Given the description of an element on the screen output the (x, y) to click on. 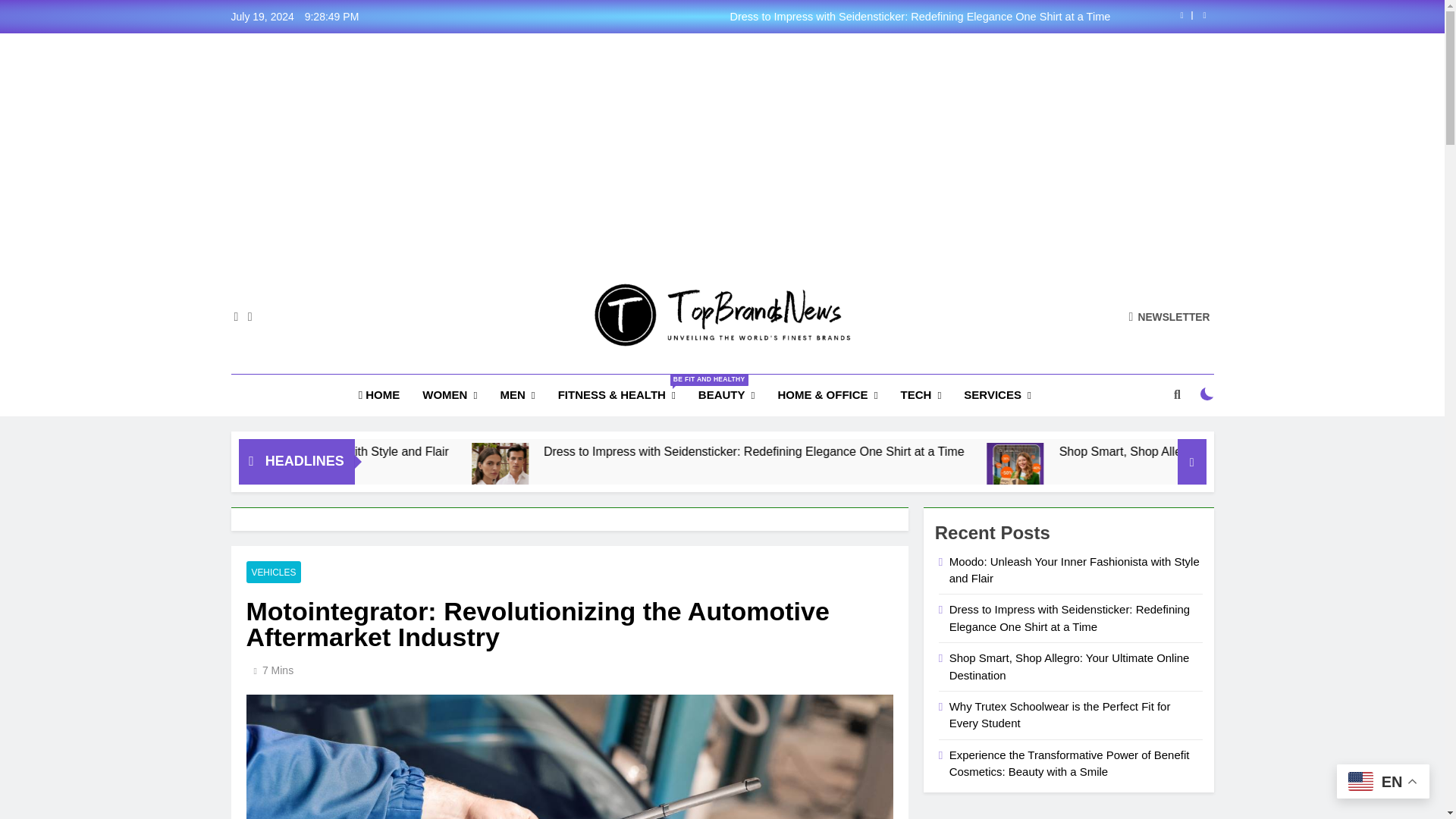
Moodo: Unleash Your Inner Fashionista with Style and Flair (451, 451)
BEAUTY (727, 395)
Top Brands News (608, 368)
MEN (516, 395)
HOME (379, 394)
WOMEN (448, 395)
on (1206, 394)
NEWSLETTER (1169, 316)
